Given the description of an element on the screen output the (x, y) to click on. 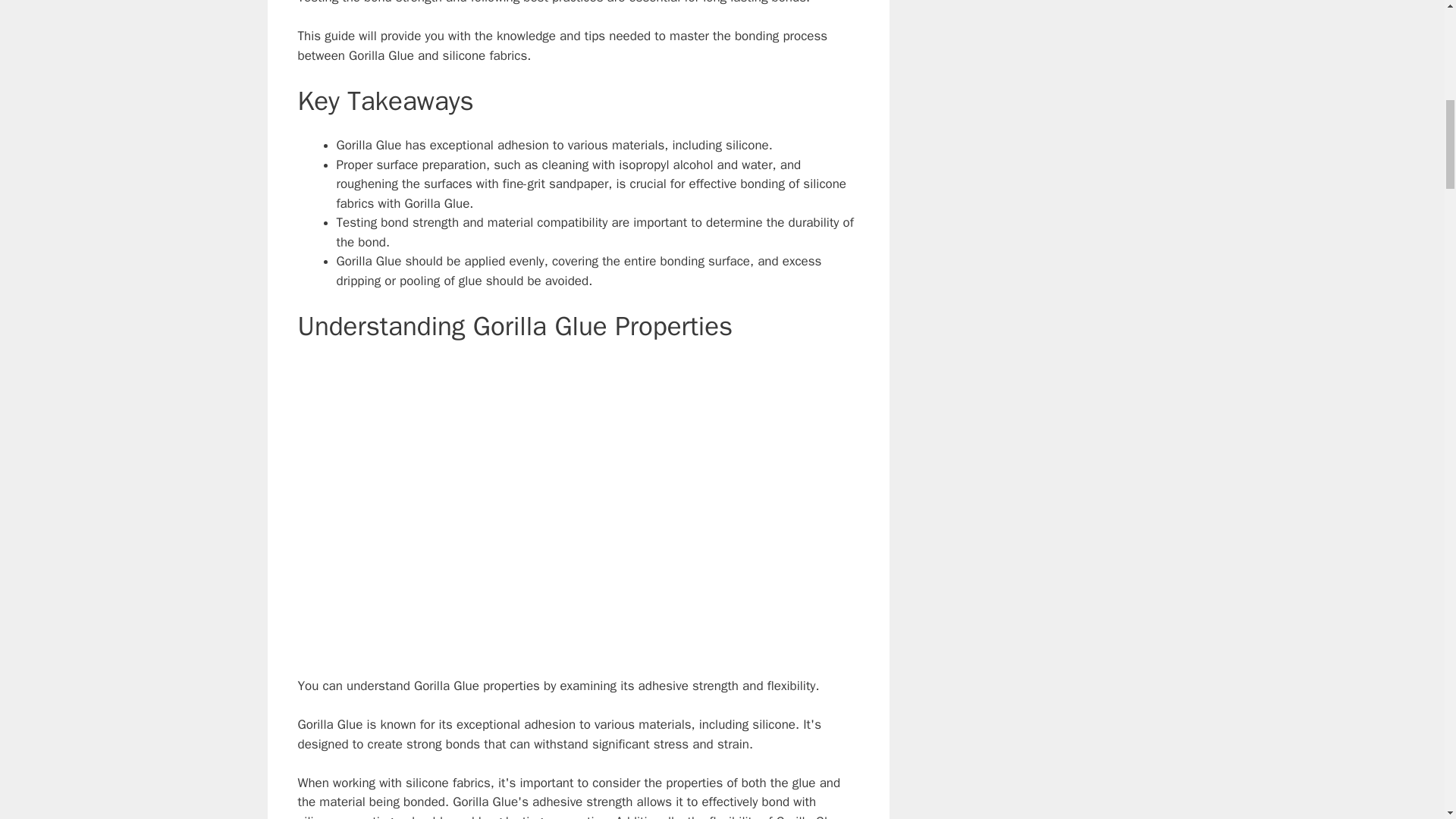
Scroll back to top (1406, 720)
